Given the description of an element on the screen output the (x, y) to click on. 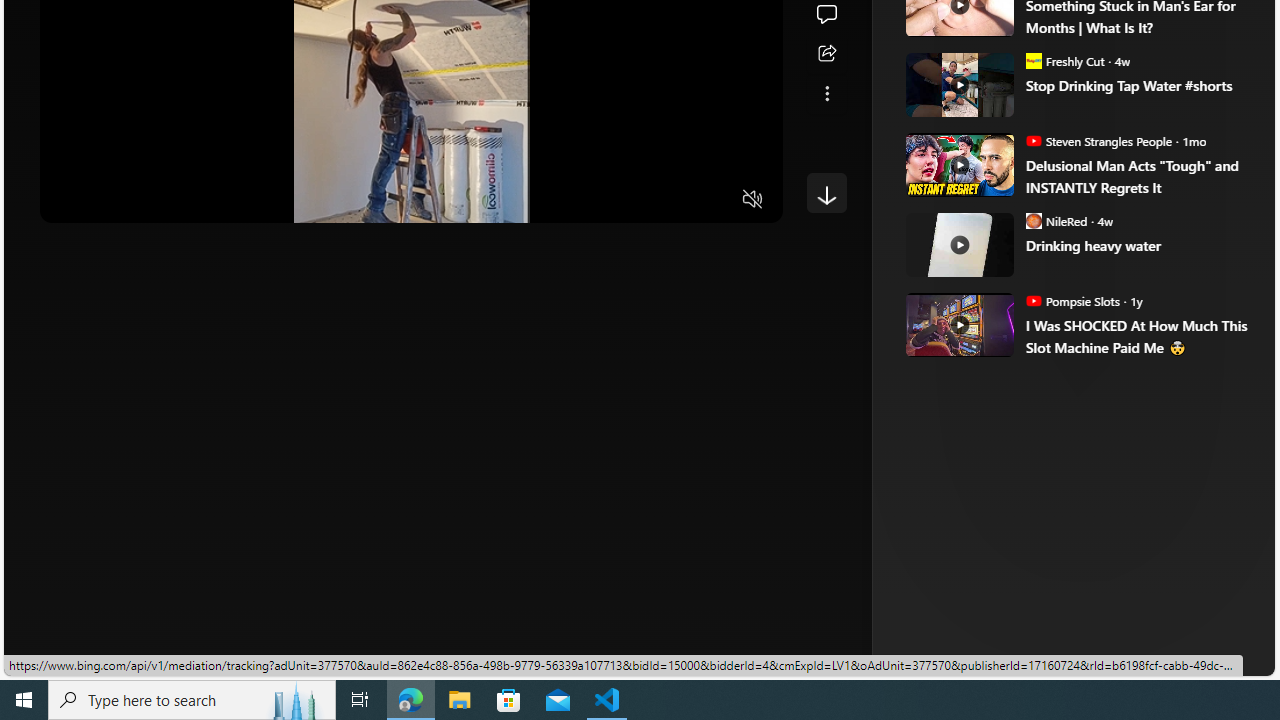
Stop Drinking Tap Water #shorts (1136, 85)
Class: control (826, 192)
Delusional Man Acts "Tough" and INSTANTLY Regrets It (958, 164)
Drinking heavy water (1136, 245)
Delusional Man Acts "Tough" and INSTANTLY Regrets It (1136, 176)
Nordace.com (1016, 337)
Seek Forward (150, 200)
Share this story (826, 53)
Unmute (753, 200)
Pompsie Slots (1033, 300)
Progress Bar (411, 174)
Freshly Cut (1033, 60)
